Given the description of an element on the screen output the (x, y) to click on. 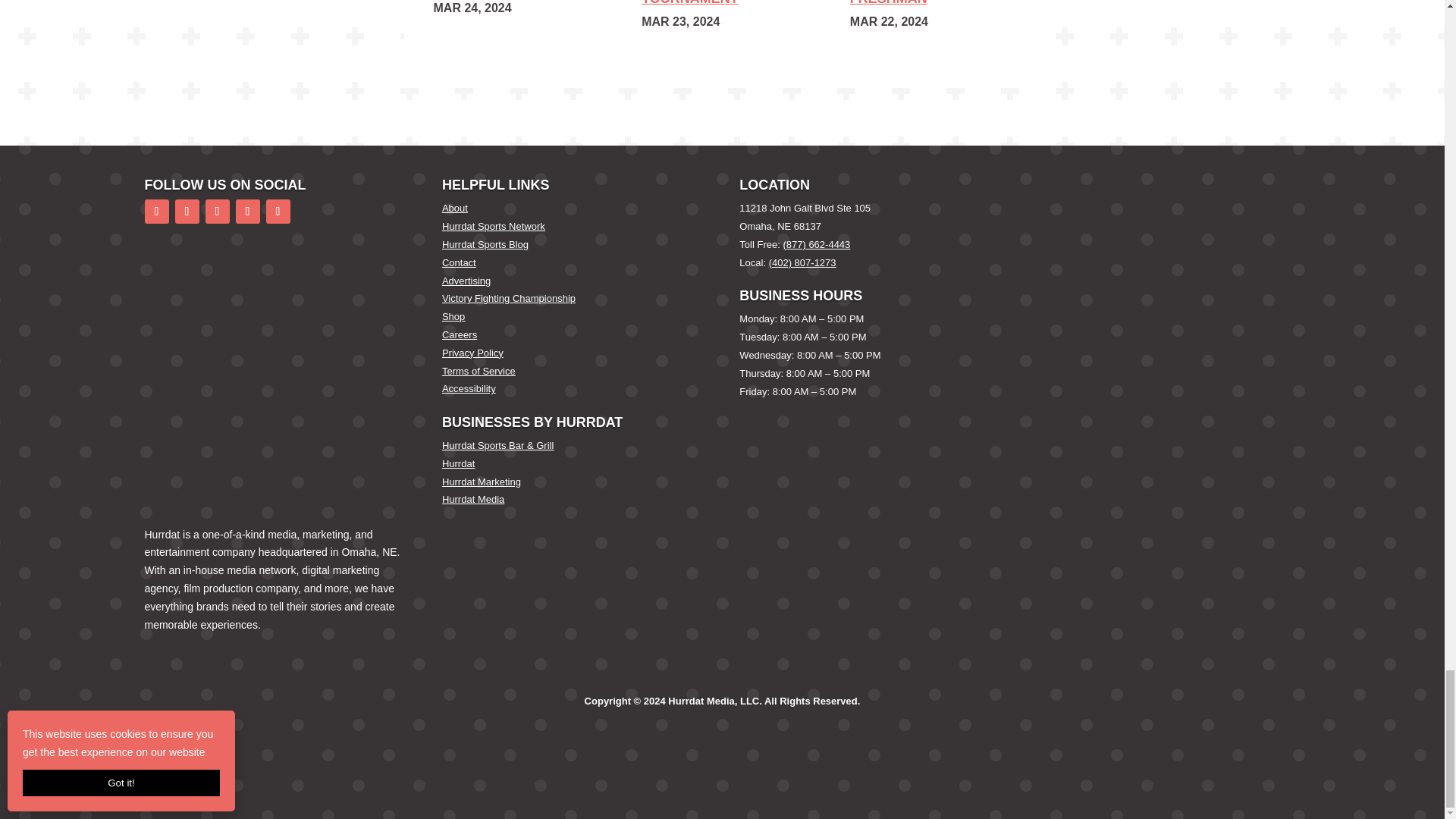
Follow on TikTok (246, 211)
Follow on Instagram (216, 211)
Follow on Youtube (276, 211)
Follow on X (186, 211)
The Podcast Academy (219, 322)
Follow on Facebook (156, 211)
Google Partner: Search Ads (227, 462)
